Given the description of an element on the screen output the (x, y) to click on. 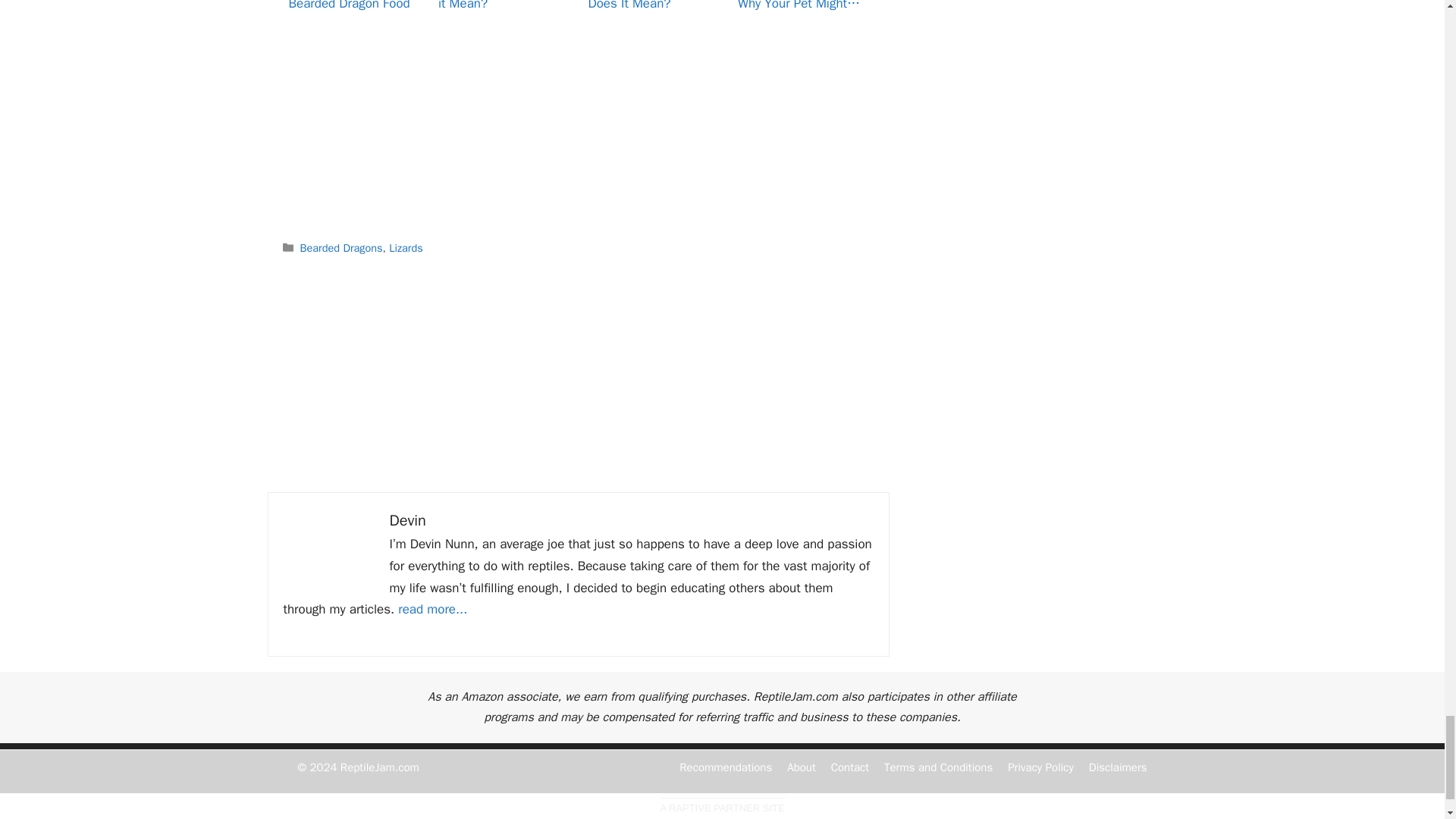
Read more (432, 609)
